Given the description of an element on the screen output the (x, y) to click on. 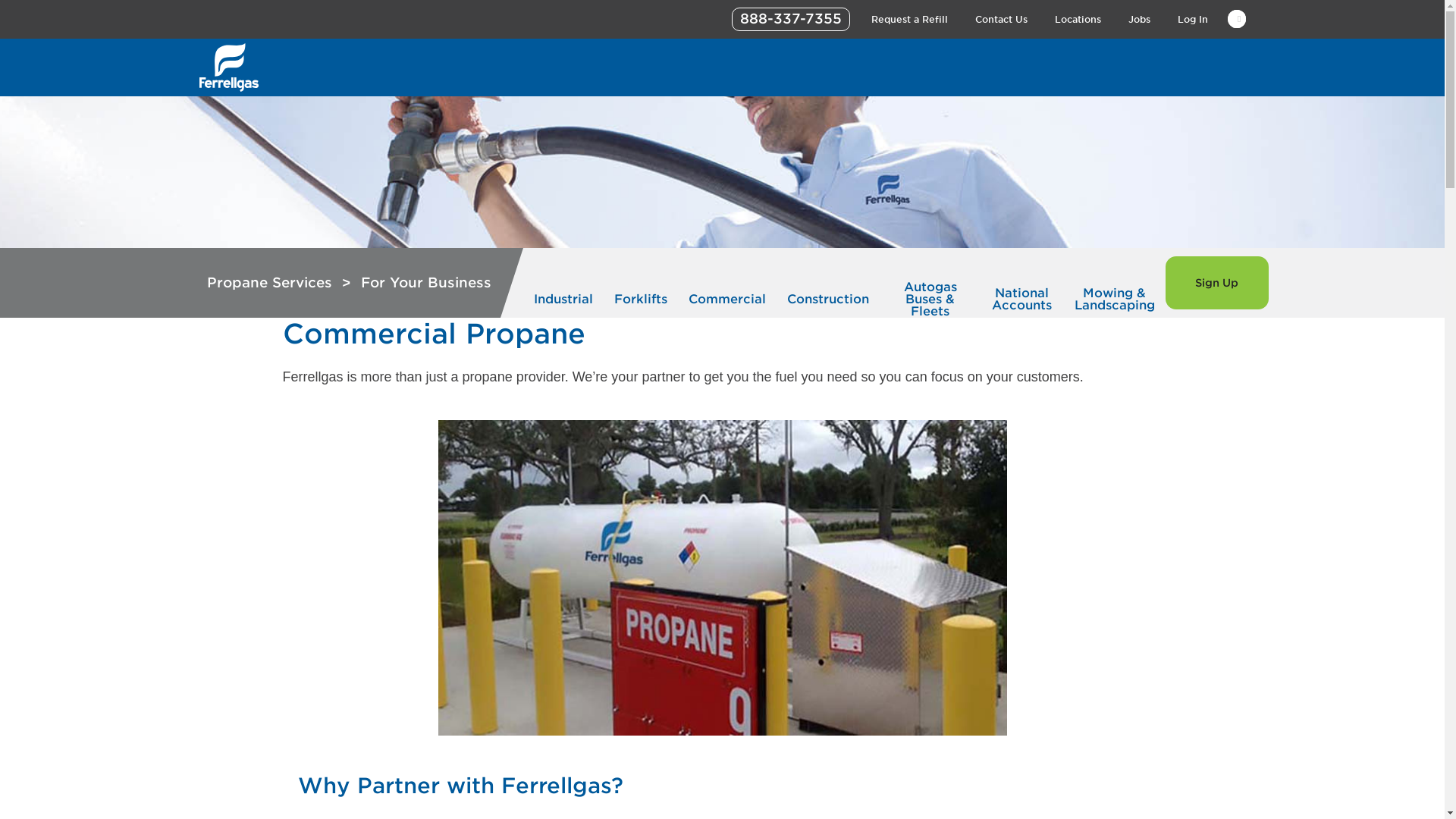
Request a Refill (908, 19)
888-337-7355 (789, 19)
Locations (1077, 19)
Log In (1191, 19)
Contact Us (1001, 19)
Jobs (1139, 19)
